Given the description of an element on the screen output the (x, y) to click on. 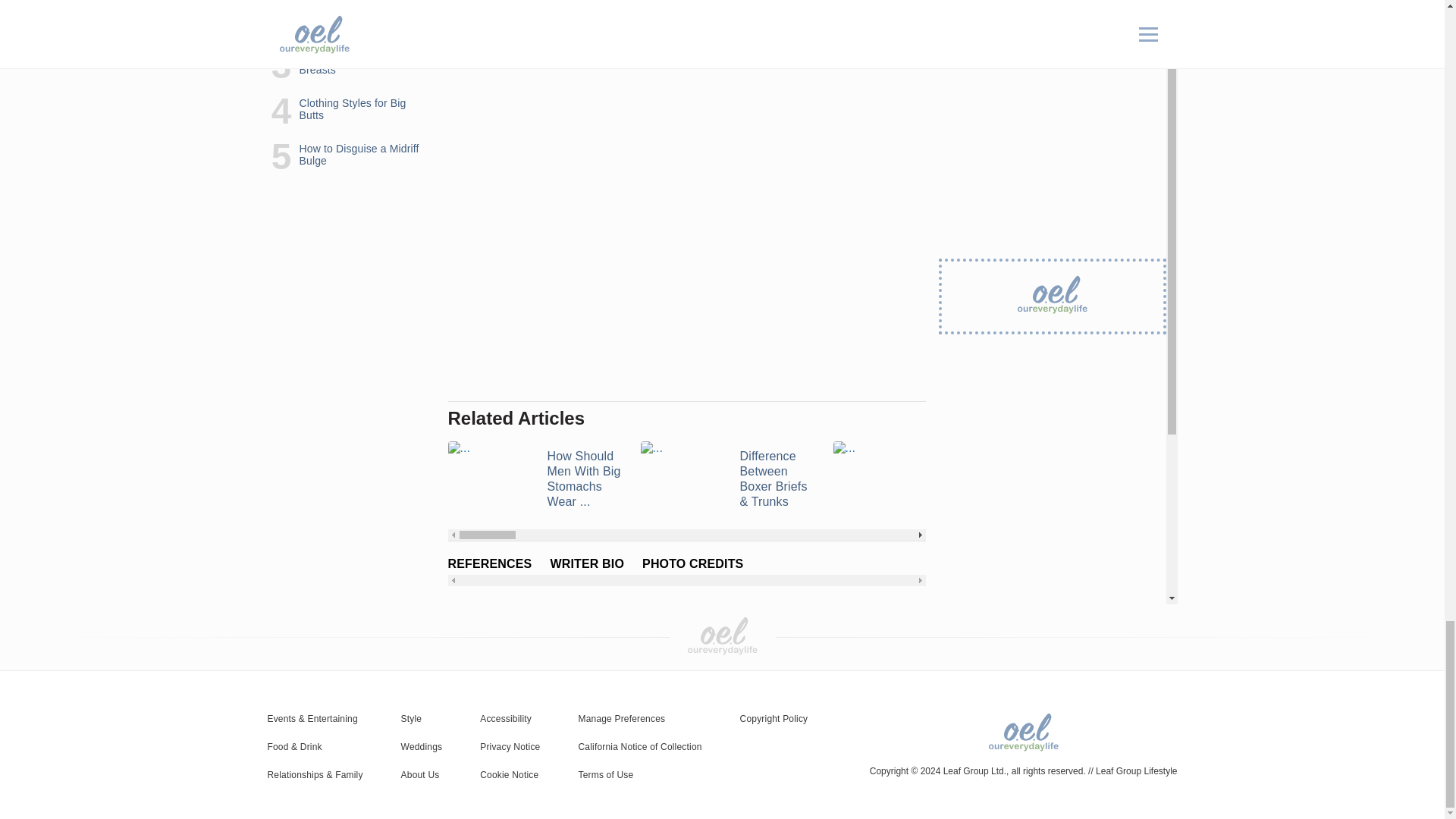
How to Disguise a Midriff Bulge (1304, 478)
Clothing Styles for Big Butts (1112, 478)
Swimsuits for Saggy Breasts (919, 478)
How Should Men With Big Stomachs Wear ... (533, 478)
